Given the description of an element on the screen output the (x, y) to click on. 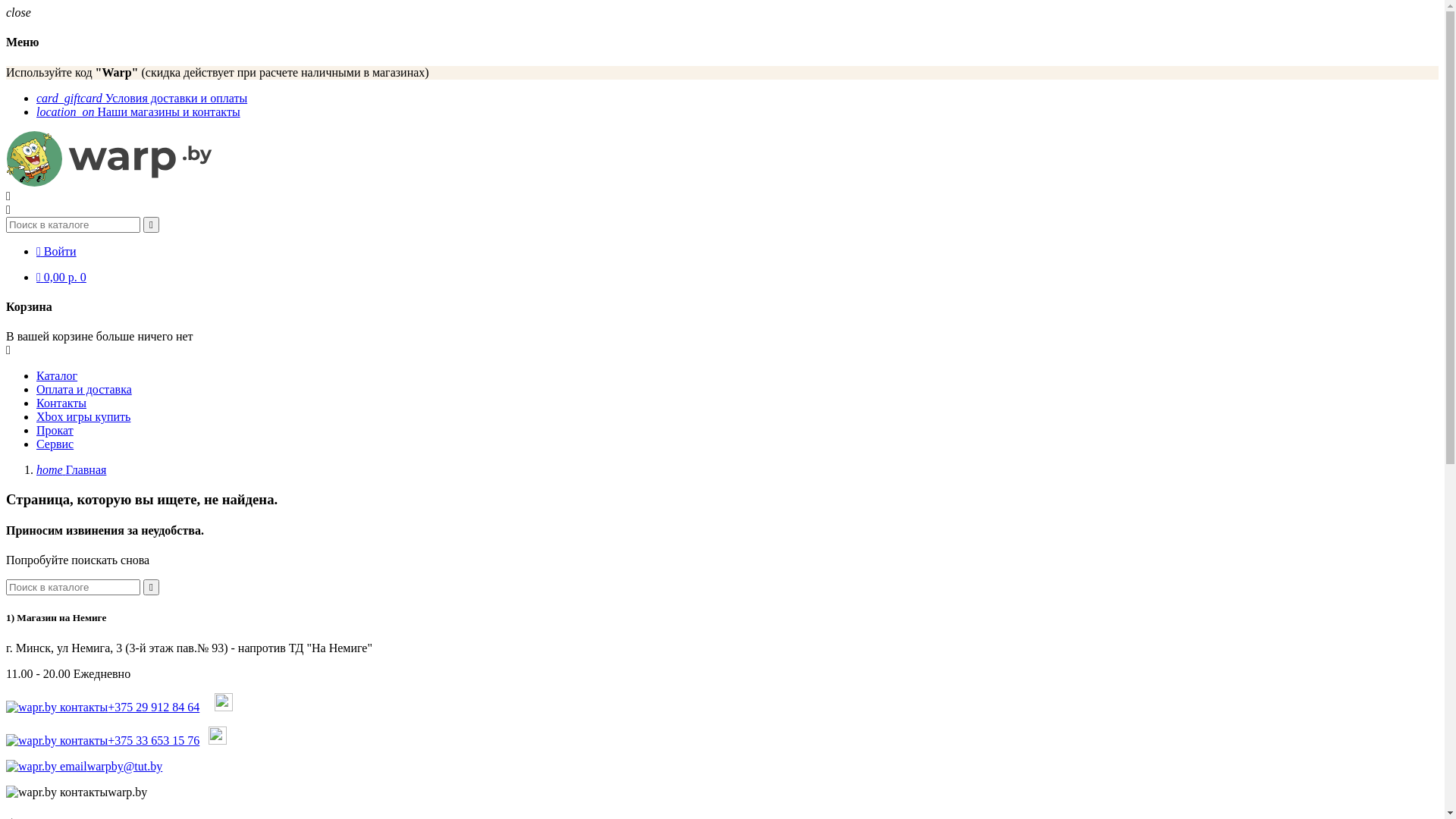
warpby@tut.by Element type: text (84, 765)
Telegram Element type: hover (223, 706)
warp.by Element type: text (127, 791)
+375 33 653 15 76 Element type: text (102, 740)
+375 29 912 84 64 Element type: text (102, 706)
